Given the description of an element on the screen output the (x, y) to click on. 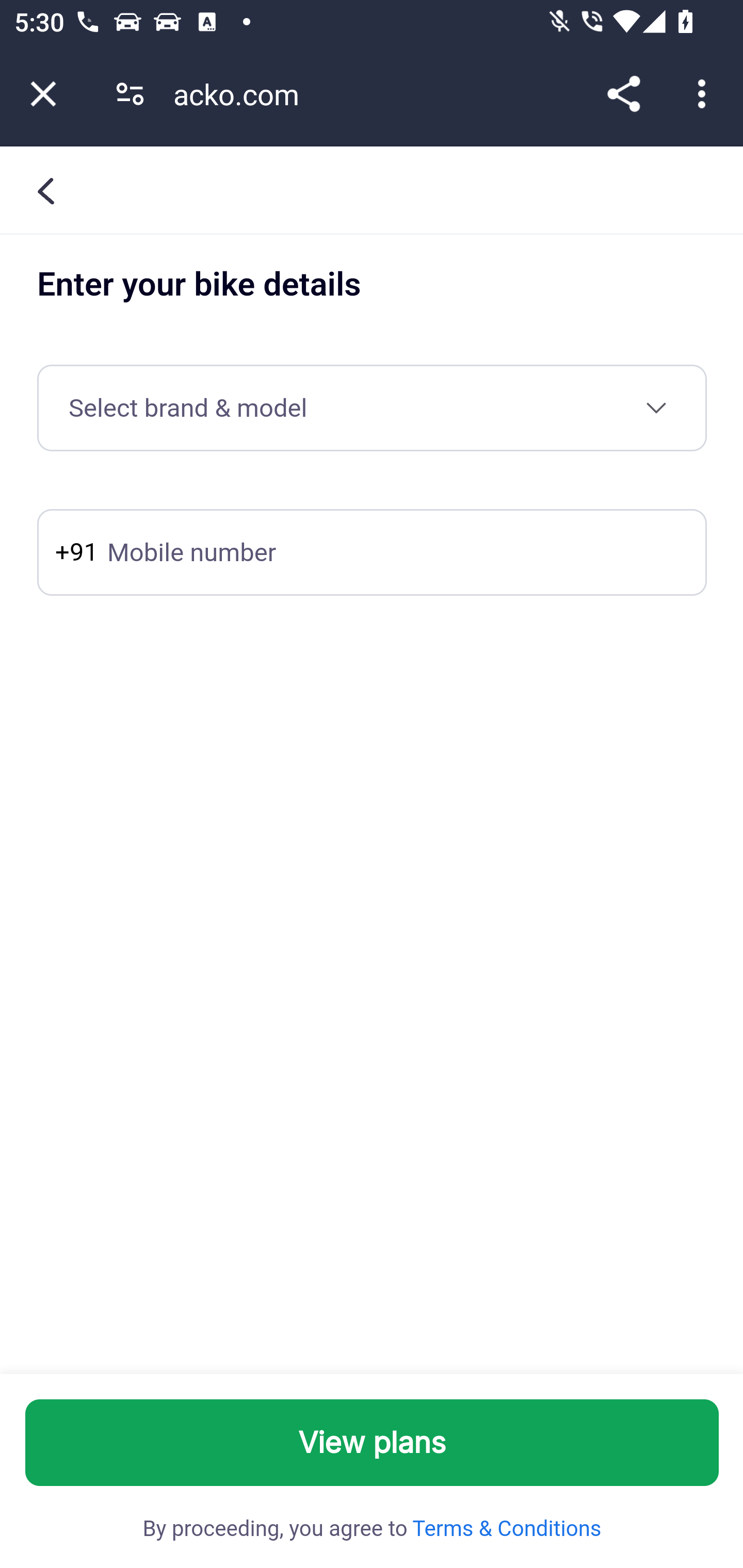
Close tab (43, 93)
Share (623, 93)
Customize and control Google Chrome (705, 93)
Connection is secure (129, 93)
acko.com (243, 93)
Mobile number  (372, 553)
View plans (372, 1443)
 Terms & Conditions (504, 1529)
